Given the description of an element on the screen output the (x, y) to click on. 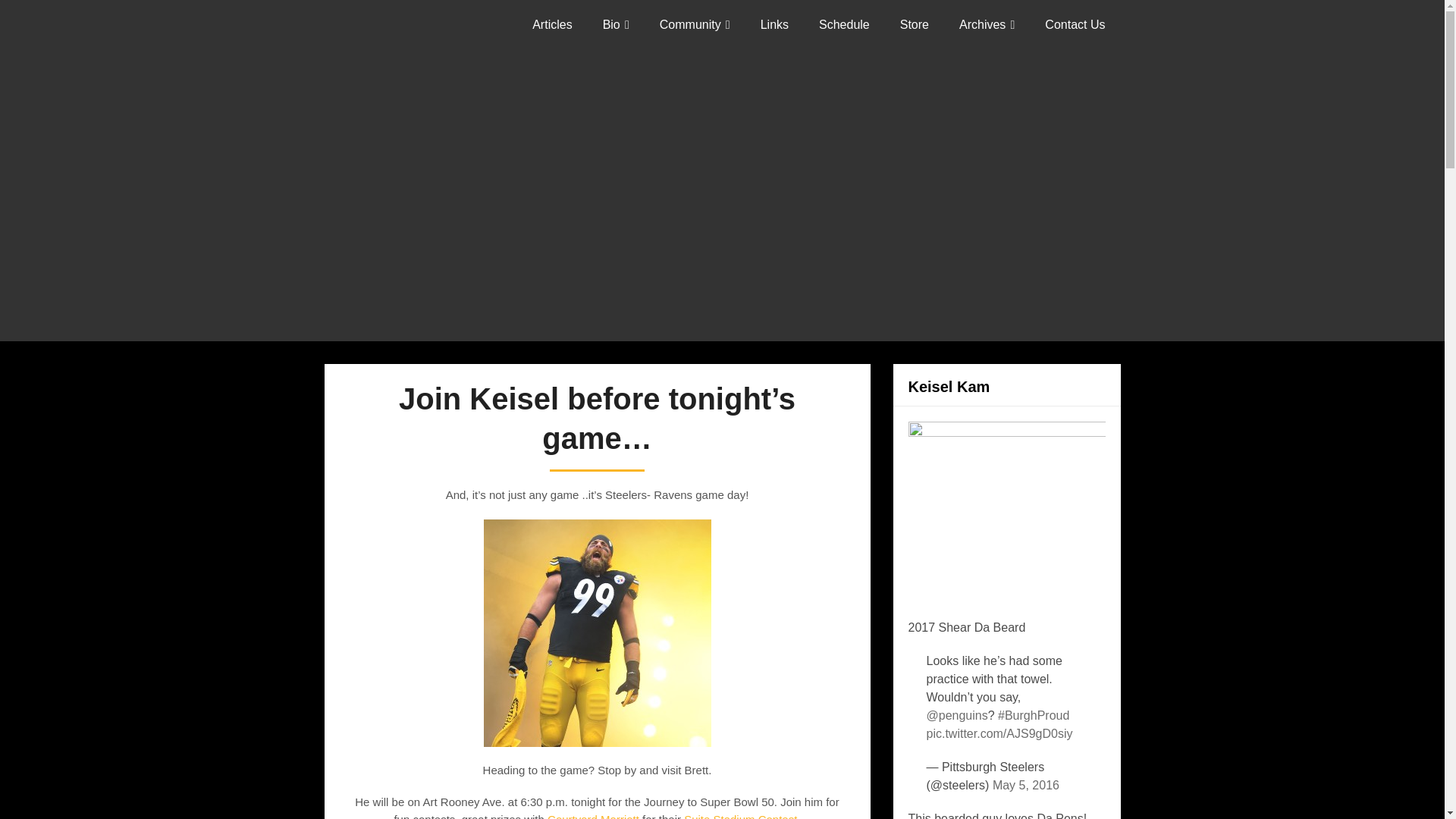
Schedule (844, 24)
Archives (986, 24)
Contact Us (1074, 24)
Links (774, 24)
Courtyard Marriott (593, 816)
Articles (551, 24)
May 5, 2016 (1025, 784)
Store (914, 24)
Suite Stadium Contest (740, 816)
Community (695, 24)
Bio (616, 24)
